Given the description of an element on the screen output the (x, y) to click on. 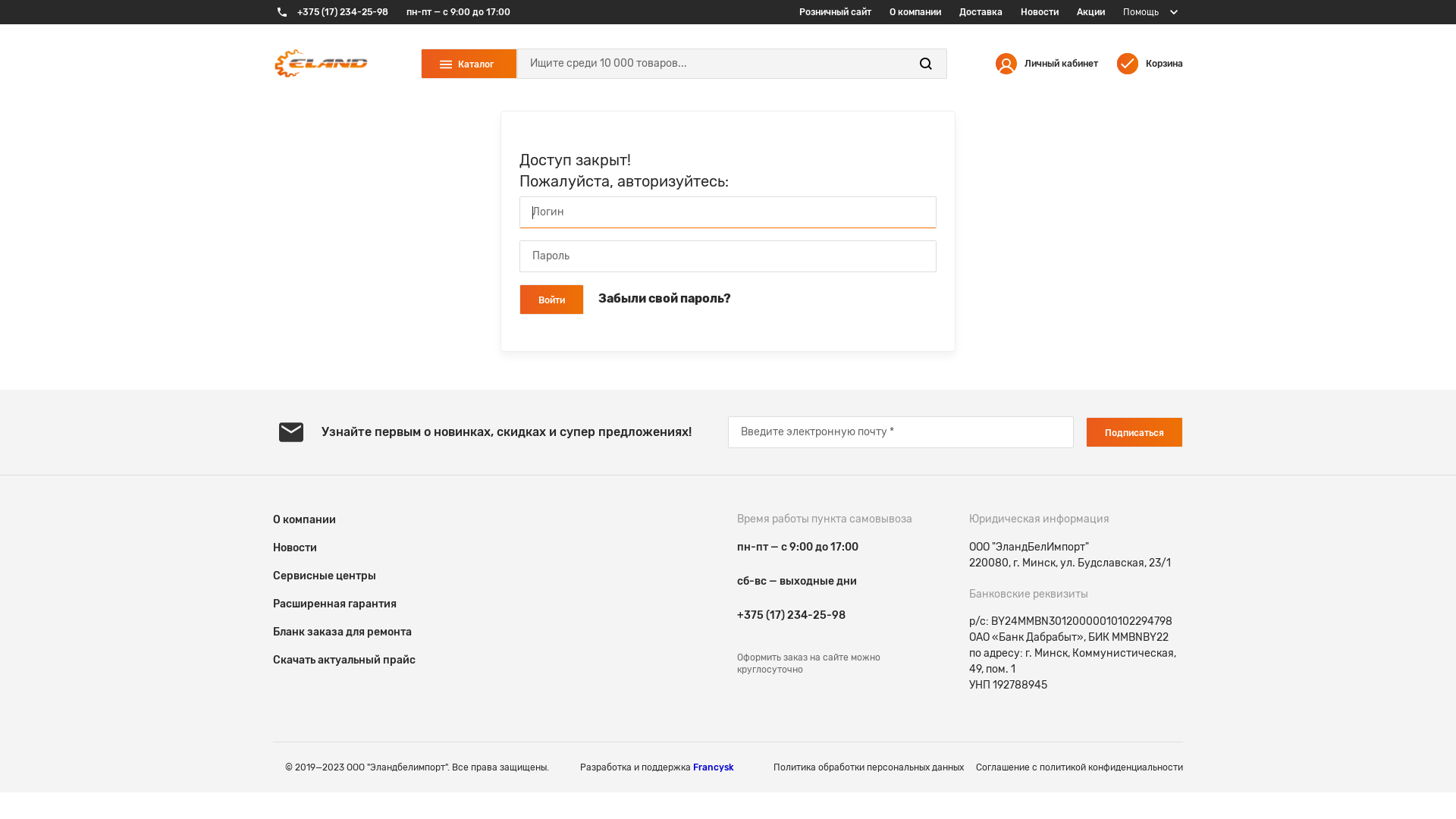
Francysk Element type: text (713, 767)
+375 (17) 234-25-98 Element type: text (330, 12)
+375 (17) 234-25-98 Element type: text (791, 614)
